Given the description of an element on the screen output the (x, y) to click on. 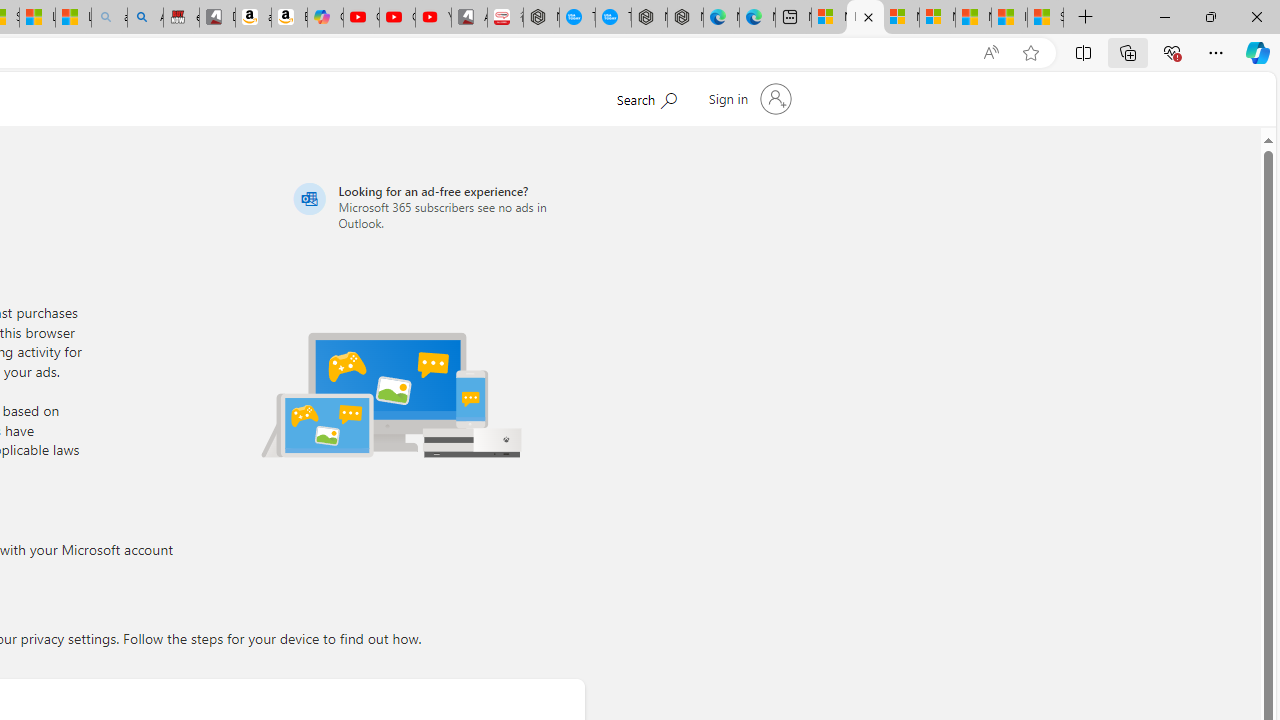
Copilot (325, 17)
The most popular Google 'how to' searches (613, 17)
Nordace - My Account (541, 17)
Nordace - Nordace has arrived Hong Kong (685, 17)
